Given the description of an element on the screen output the (x, y) to click on. 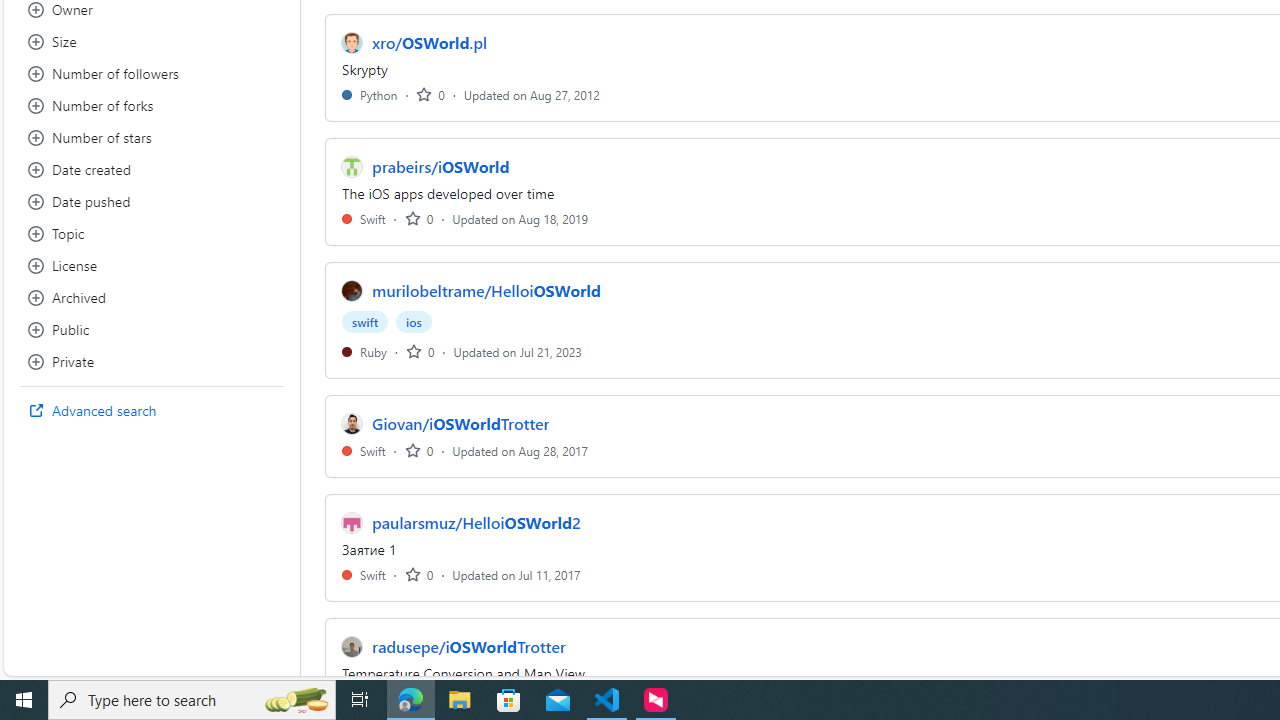
Python (369, 93)
swift (365, 321)
Updated on Aug 27, 2012 (531, 93)
0 (418, 574)
0 stars (418, 574)
Updated on Aug 28, 2017 (519, 450)
radusepe/iOSWorldTrotter (468, 646)
Swift (363, 574)
